Given the description of an element on the screen output the (x, y) to click on. 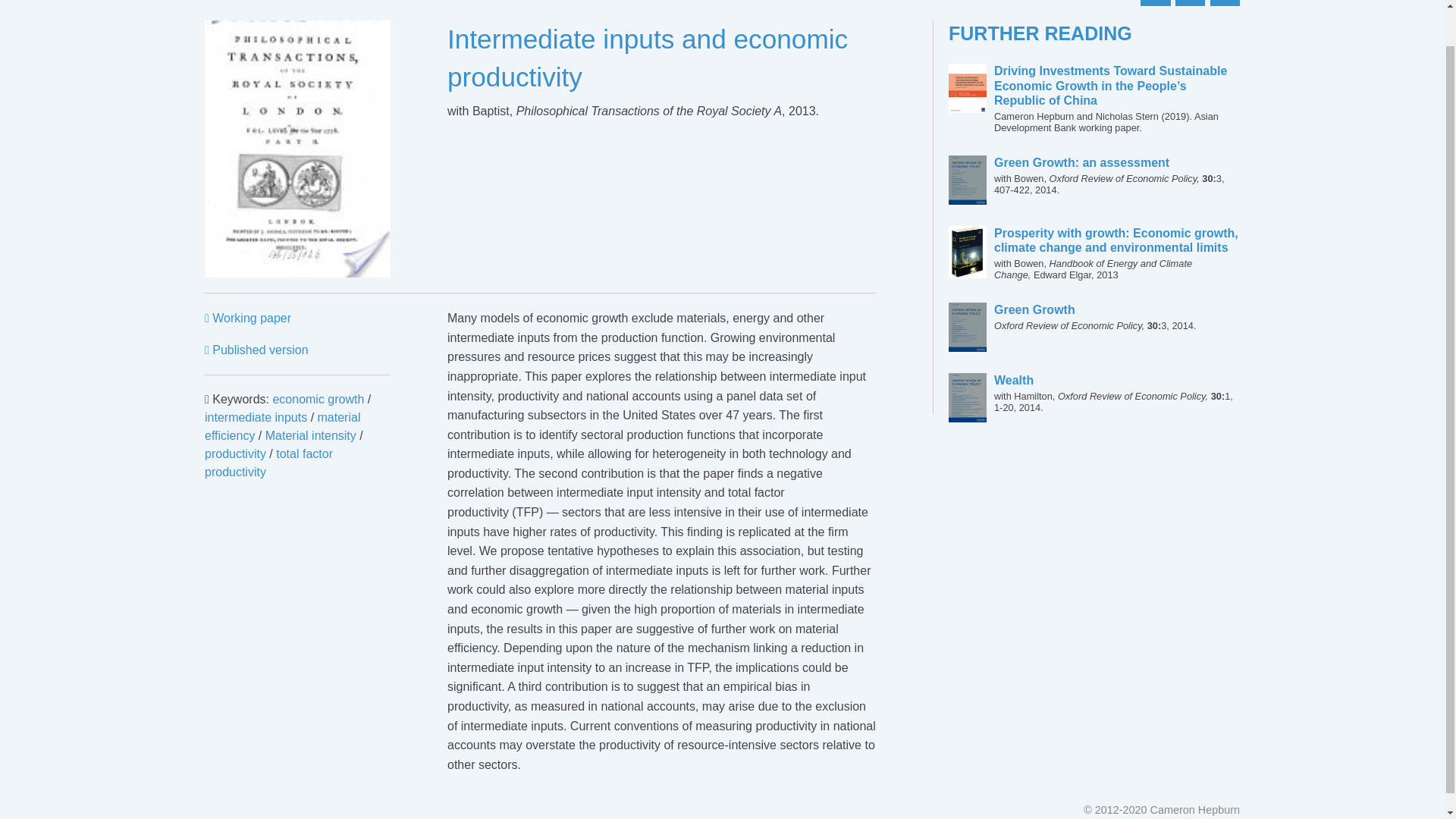
productivity (235, 453)
CAMERON HEPBURN (272, 2)
economic growth (318, 399)
Working paper (248, 318)
total factor productivity (269, 462)
PUBLICATIONS (1117, 317)
Published version (400, 2)
Material intensity (256, 349)
intermediate inputs (310, 435)
Twitter (256, 417)
Google Scholar (1189, 2)
